Given the description of an element on the screen output the (x, y) to click on. 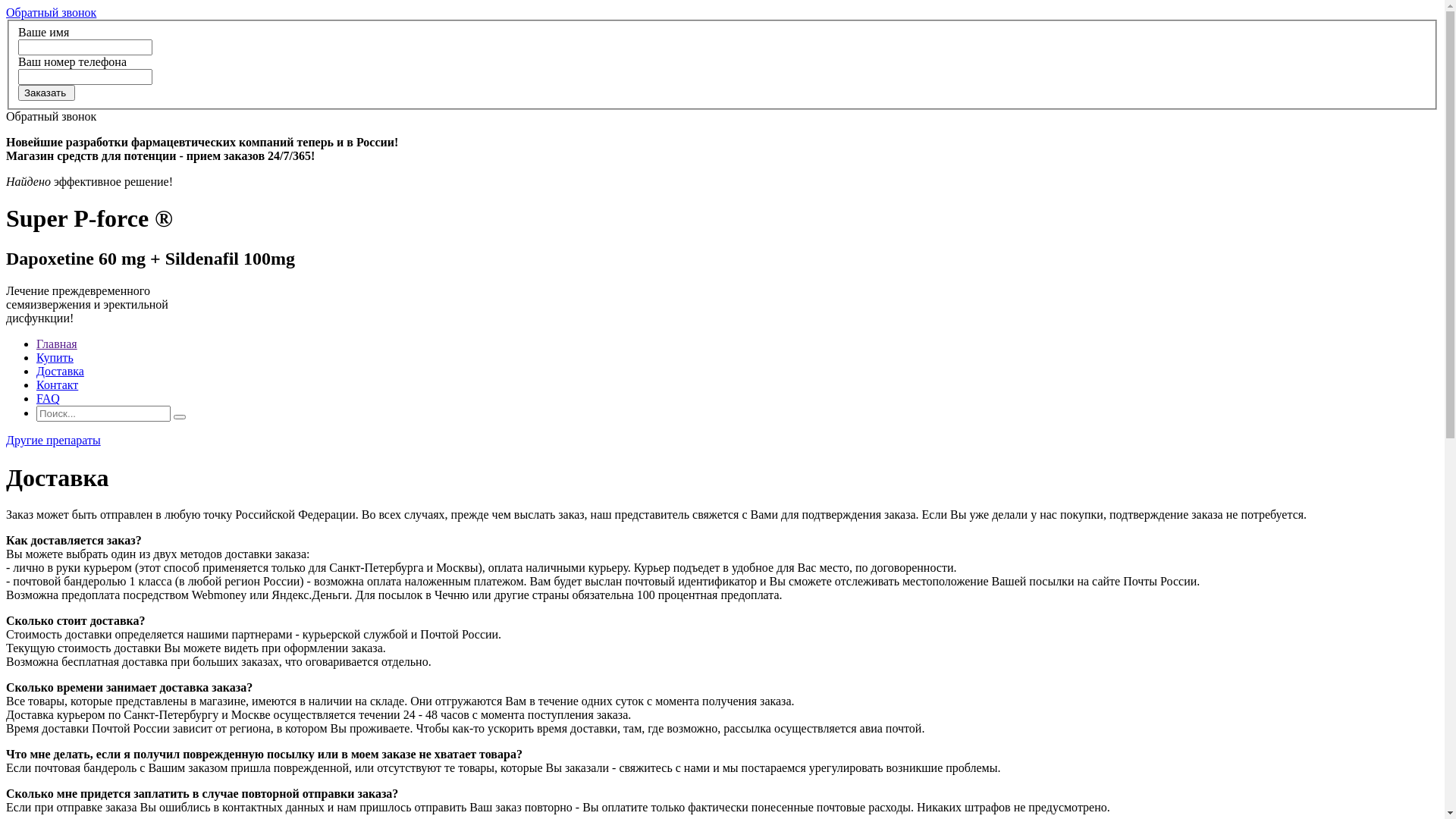
FAQ Element type: text (47, 398)
